Given the description of an element on the screen output the (x, y) to click on. 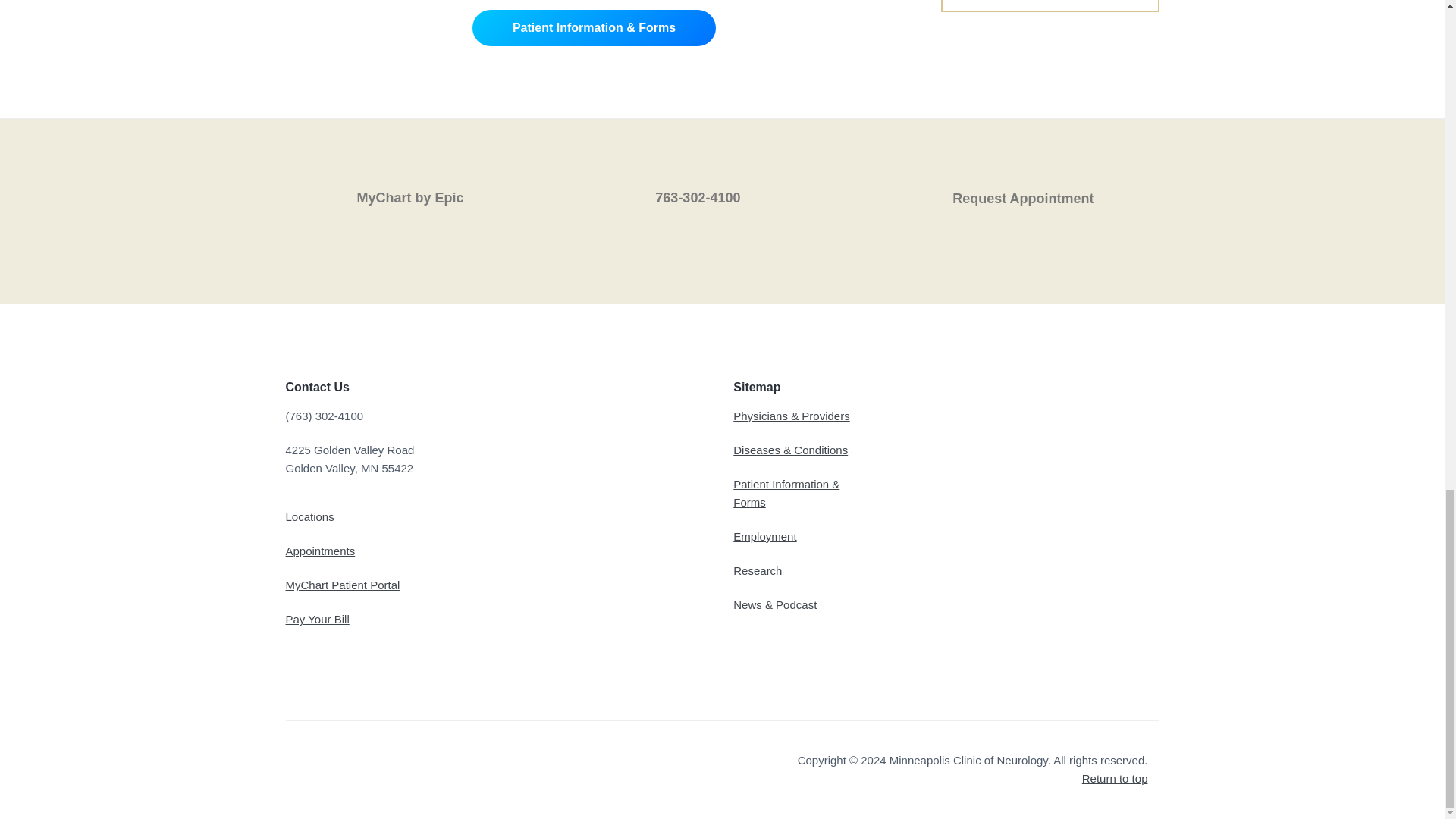
763-302-4100 (721, 192)
MyChart by Epic (422, 192)
Locations (309, 516)
Request Appointment (1020, 192)
